Given the description of an element on the screen output the (x, y) to click on. 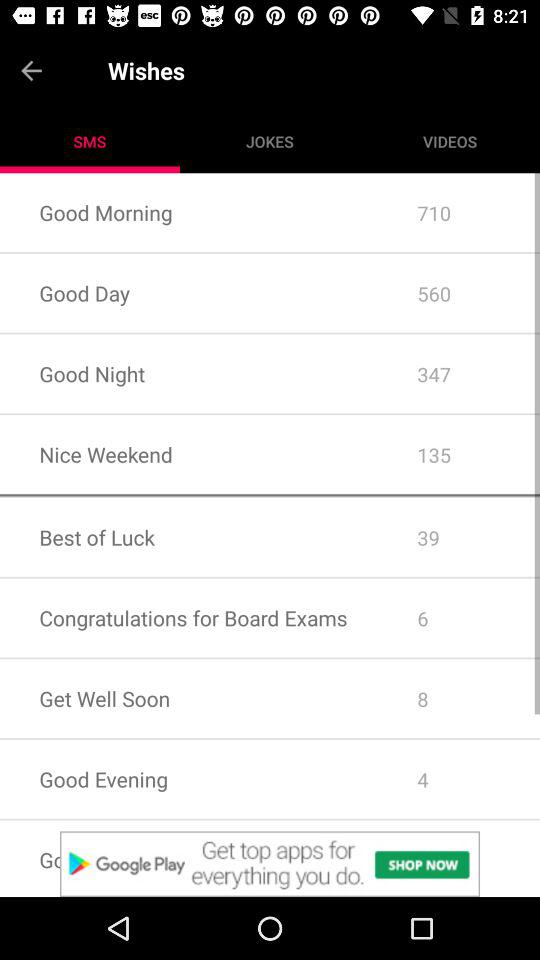
go back (54, 70)
